Given the description of an element on the screen output the (x, y) to click on. 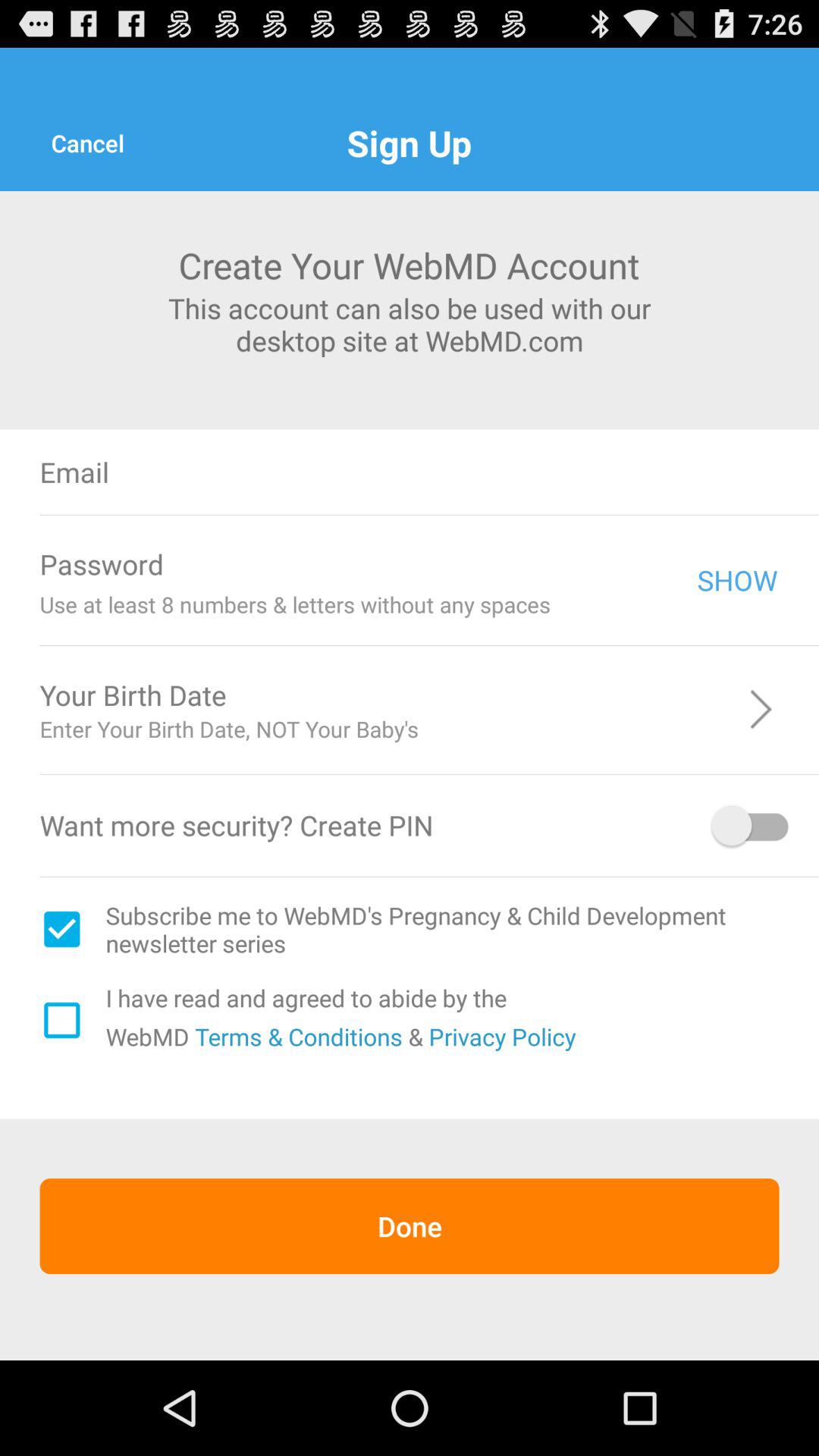
turn on the icon below the i have read item (295, 1036)
